Given the description of an element on the screen output the (x, y) to click on. 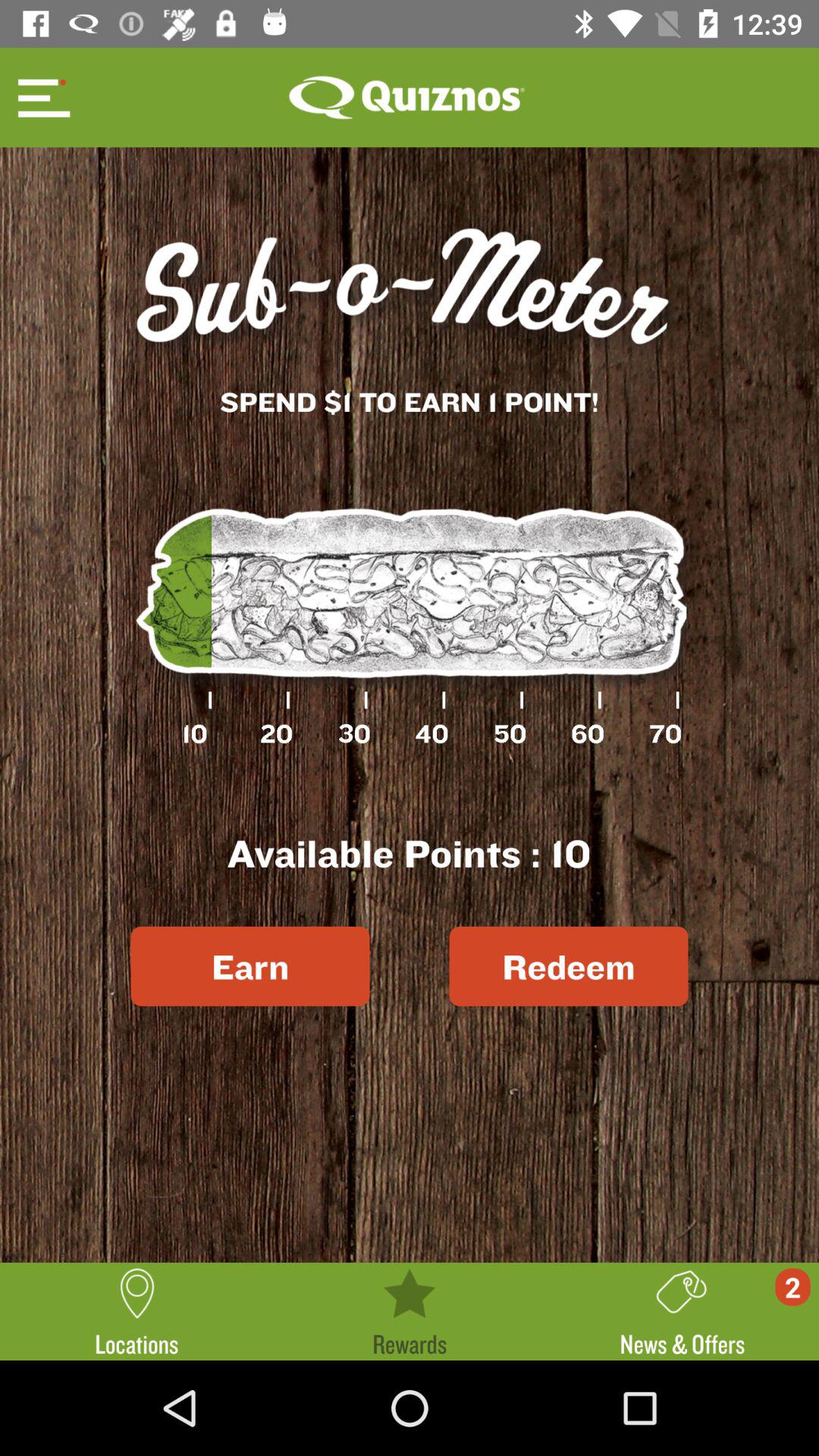
see menu (41, 97)
